Given the description of an element on the screen output the (x, y) to click on. 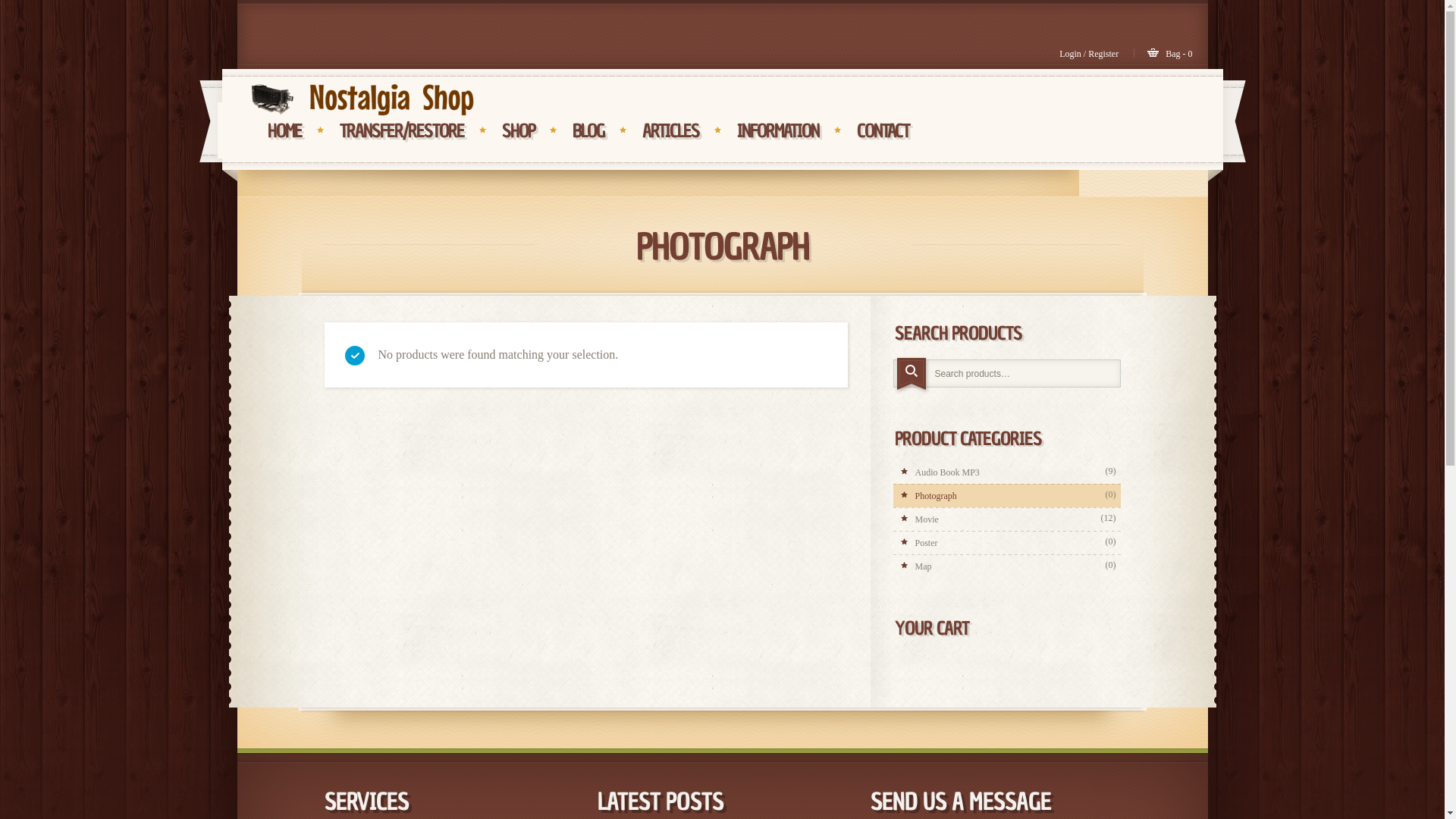
SHOP Element type: text (518, 130)
INFORMATION Element type: text (778, 130)
ARTICLES Element type: text (669, 130)
BLOG Element type: text (587, 130)
Map Element type: text (1006, 565)
Audio Book MP3 Element type: text (1006, 471)
Search Element type: text (912, 375)
TRANSFER/RESTORE Element type: text (401, 130)
HOME Element type: text (283, 130)
Movie Element type: text (1006, 518)
Login / Register Element type: text (1096, 53)
Photograph Element type: text (1006, 495)
CONTACT Element type: text (882, 130)
Poster Element type: text (1006, 542)
